Given the description of an element on the screen output the (x, y) to click on. 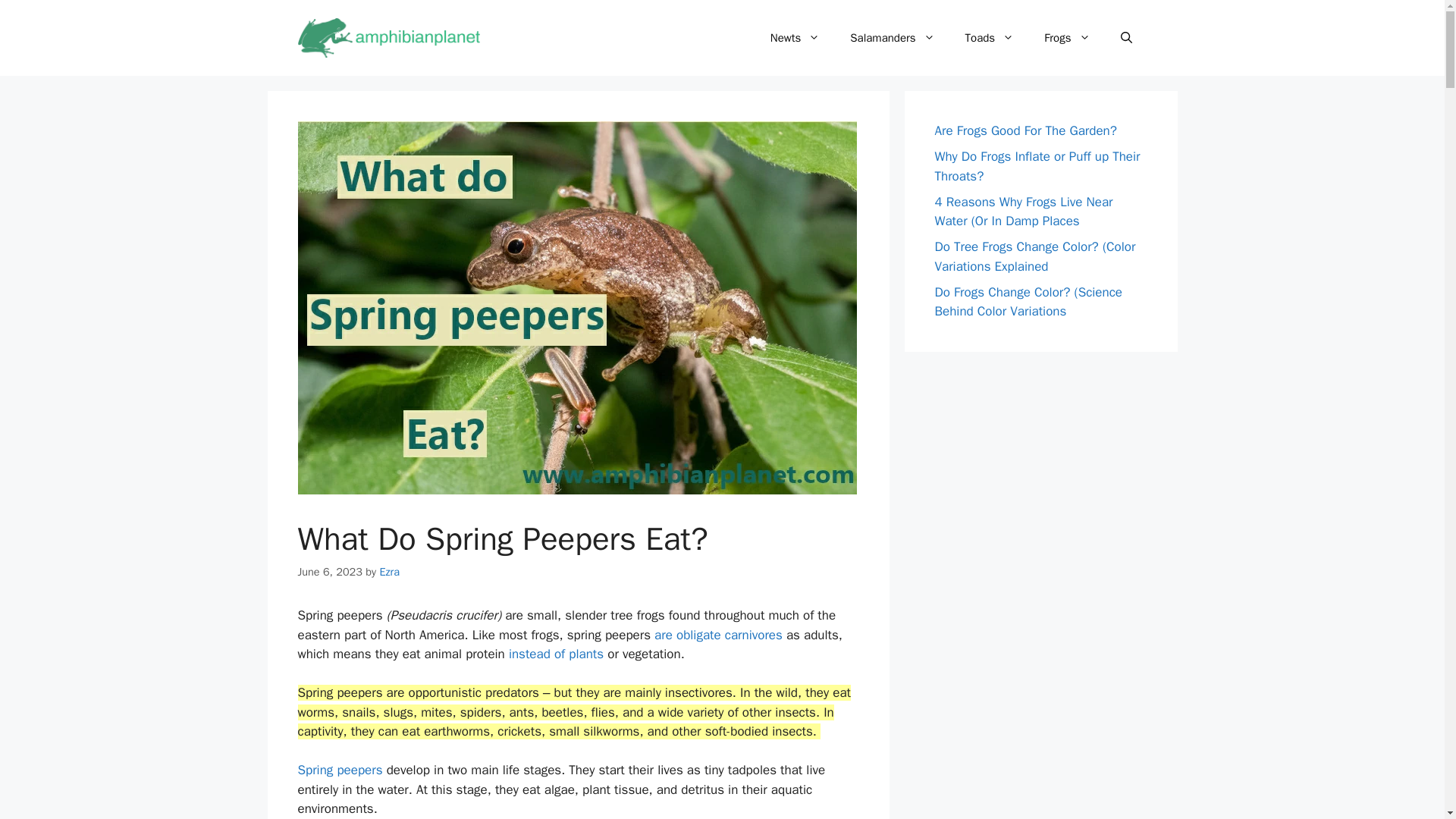
View all posts by Ezra (388, 571)
Spring peepers (339, 770)
Frogs (1067, 37)
Newts (794, 37)
Toads (989, 37)
instead of plants (556, 653)
Ezra (388, 571)
Salamanders (891, 37)
 are obligate carnivores (716, 634)
